Given the description of an element on the screen output the (x, y) to click on. 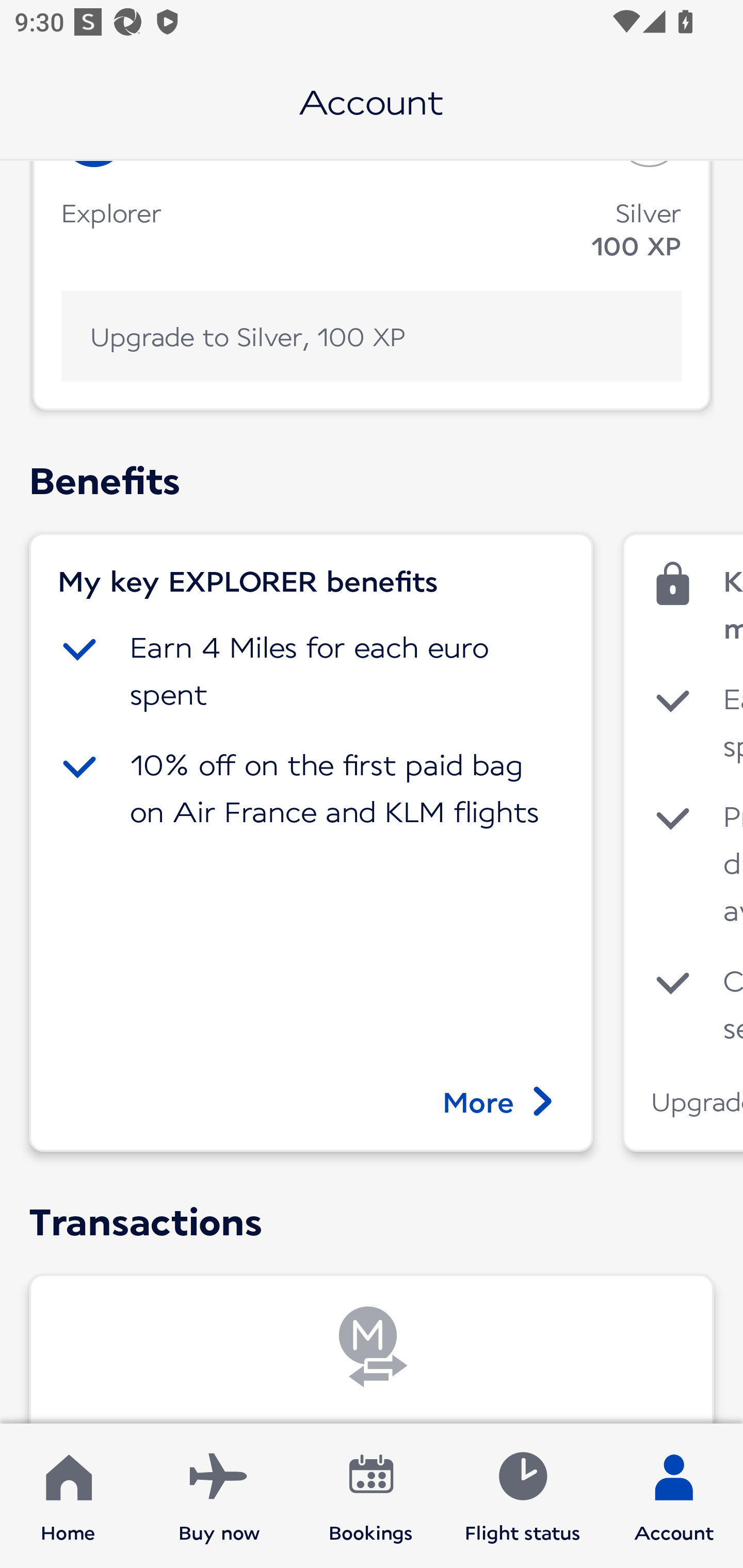
Explorer Silver 100 XP Upgrade to Silver, 100 XP (371, 285)
Home (68, 1495)
Buy now (219, 1495)
Bookings (370, 1495)
Flight status (522, 1495)
